Given the description of an element on the screen output the (x, y) to click on. 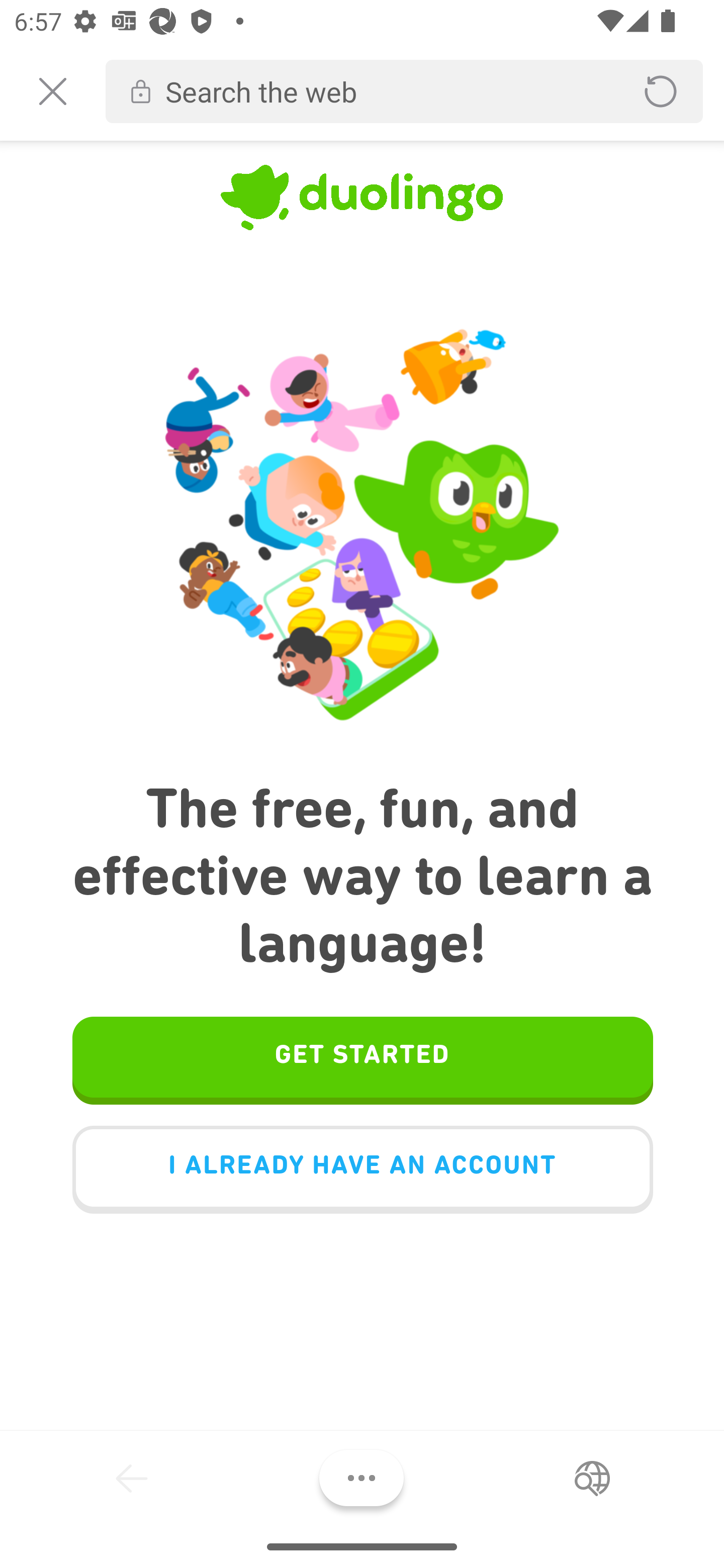
Close (52, 91)
Search the web (386, 91)
Refresh (660, 91)
Duolingo (361, 202)
GET STARTED (362, 1058)
I ALREADY HAVE AN ACCOUNT (362, 1168)
Back (131, 1477)
Browser menu Browser menu Browser menu (361, 1477)
Search (591, 1477)
